Given the description of an element on the screen output the (x, y) to click on. 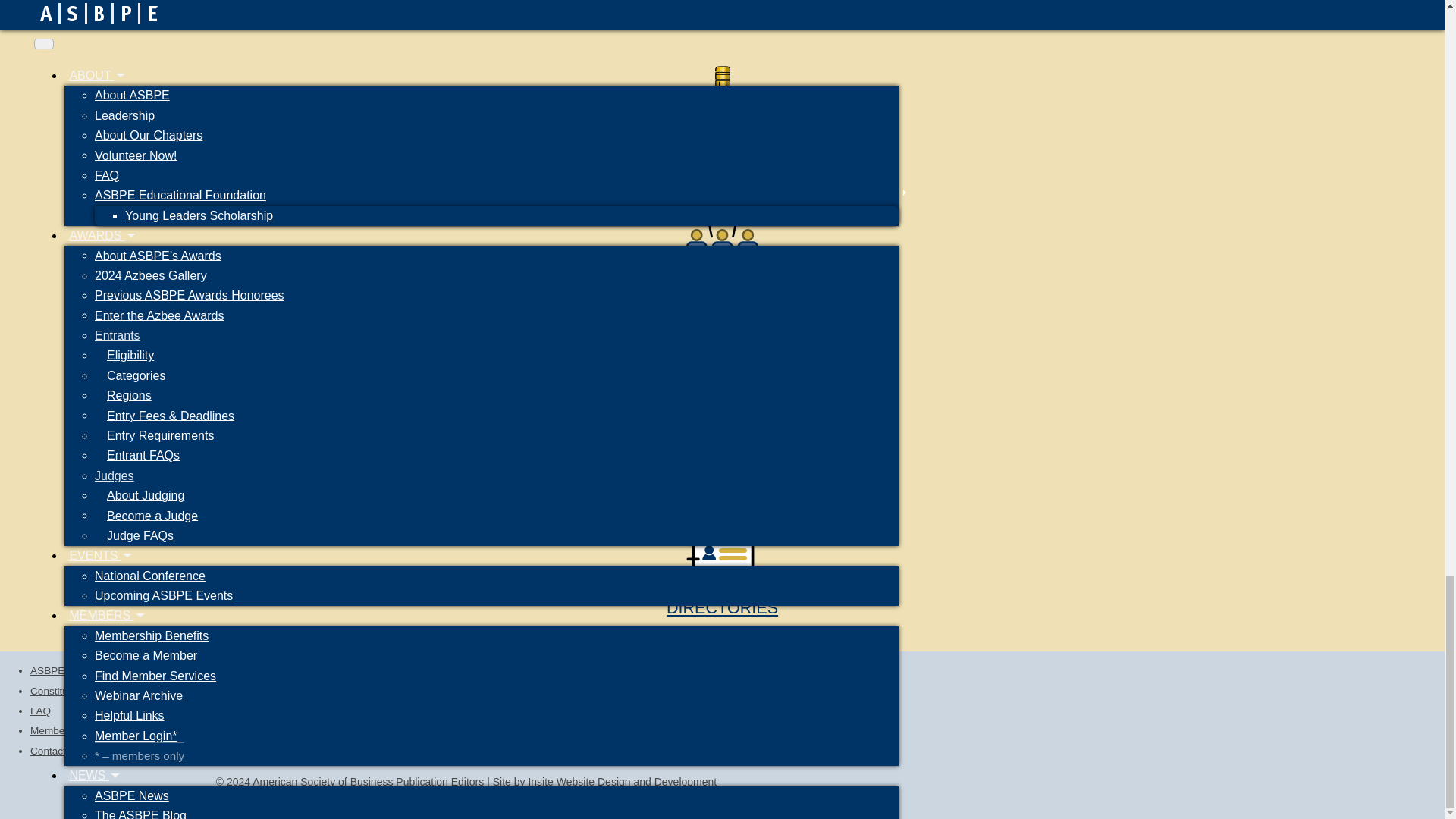
Insite Website Design and Development (621, 781)
